Given the description of an element on the screen output the (x, y) to click on. 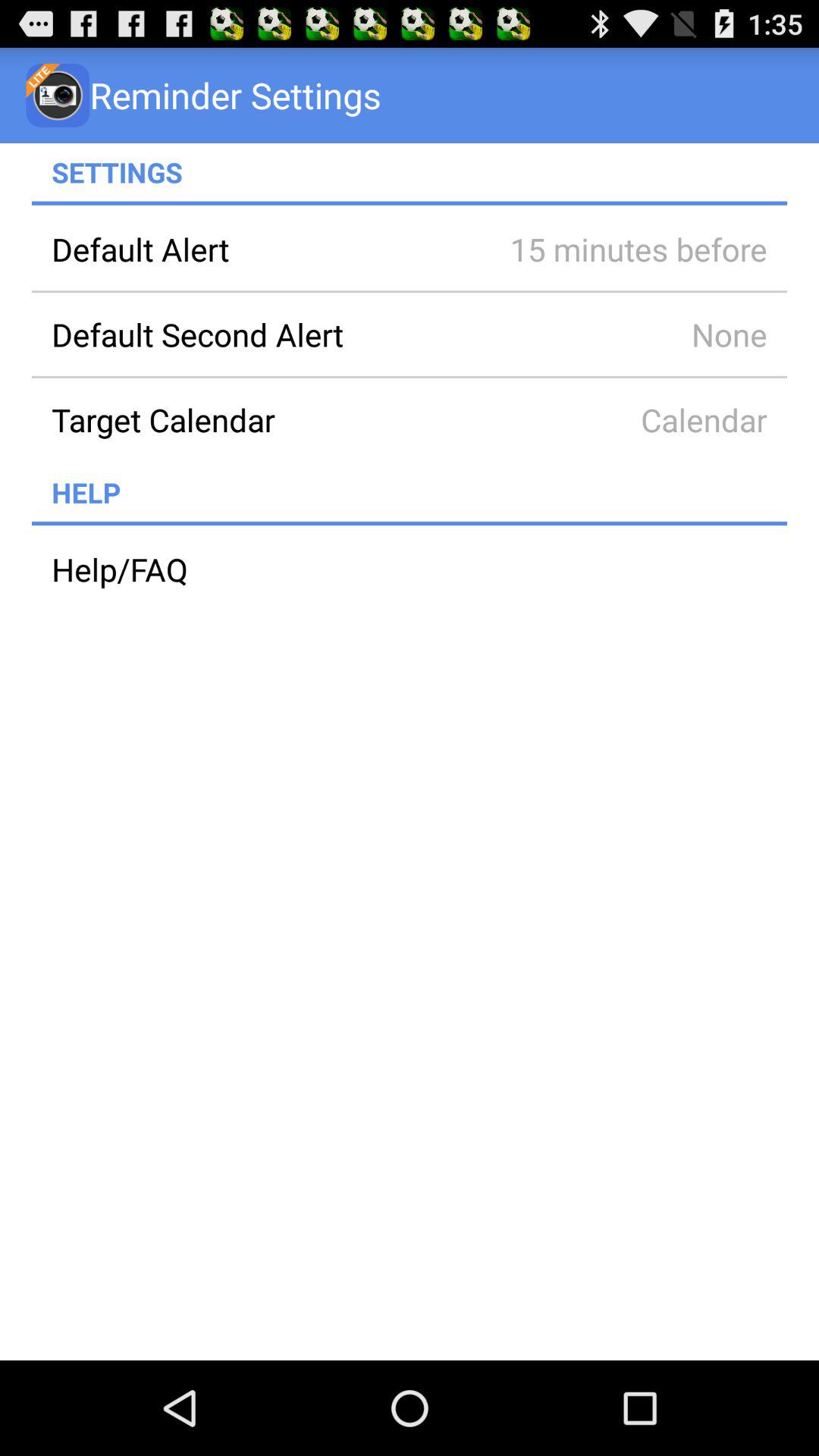
turn on the item above the calendar (617, 334)
